Given the description of an element on the screen output the (x, y) to click on. 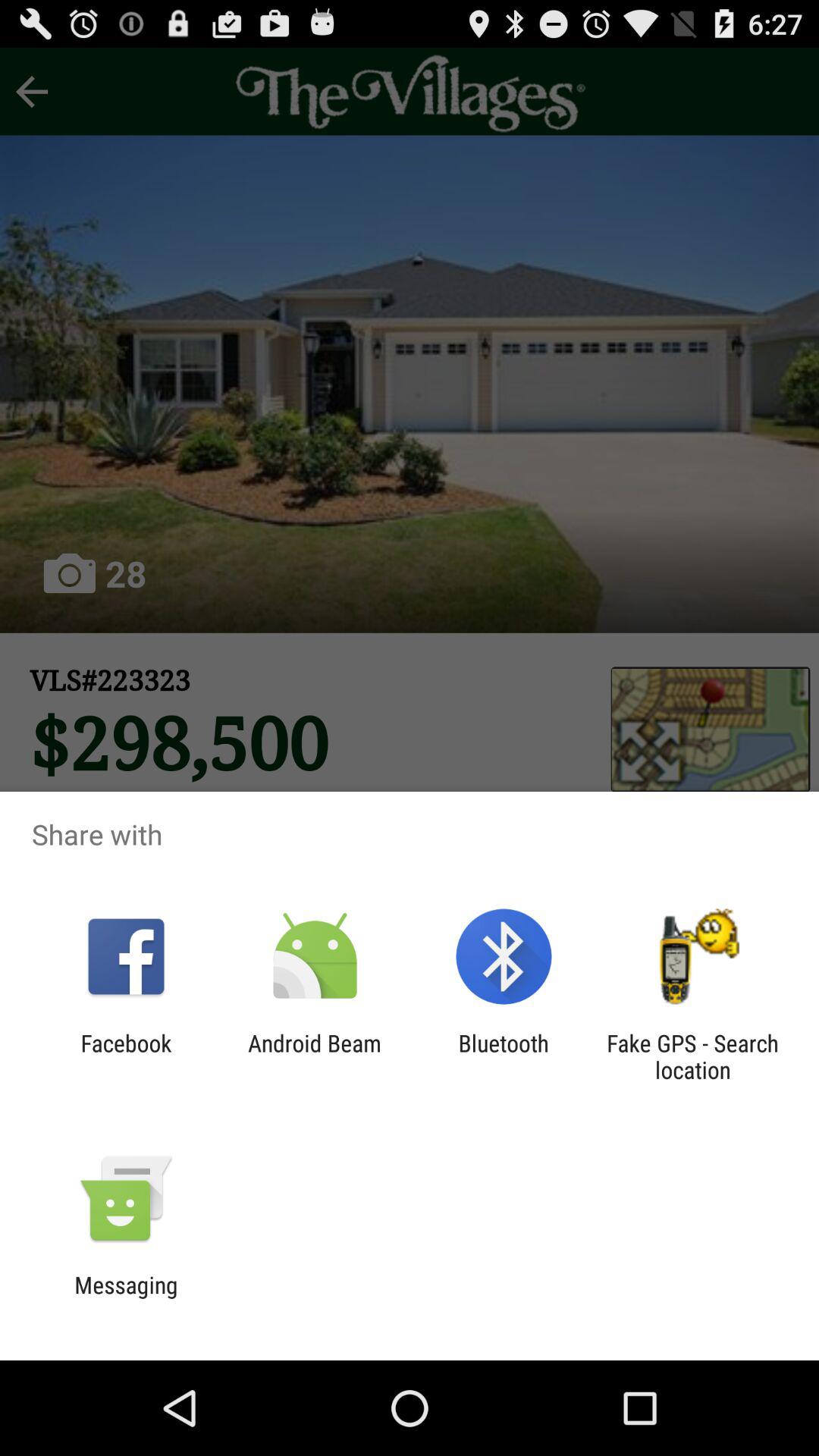
select the icon next to android beam app (125, 1056)
